Given the description of an element on the screen output the (x, y) to click on. 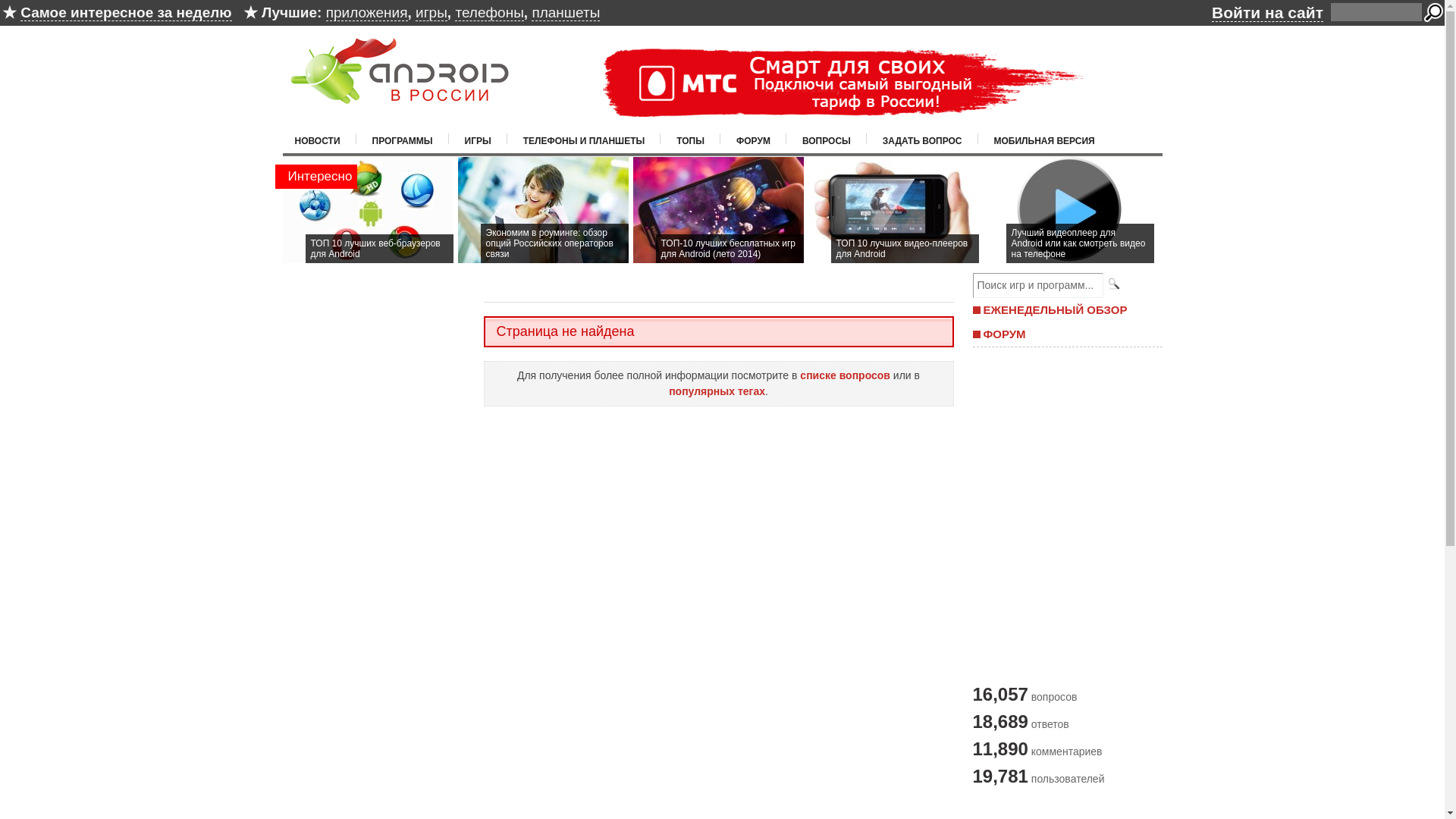
Advertisement (721, 808)
